Given the description of an element on the screen output the (x, y) to click on. 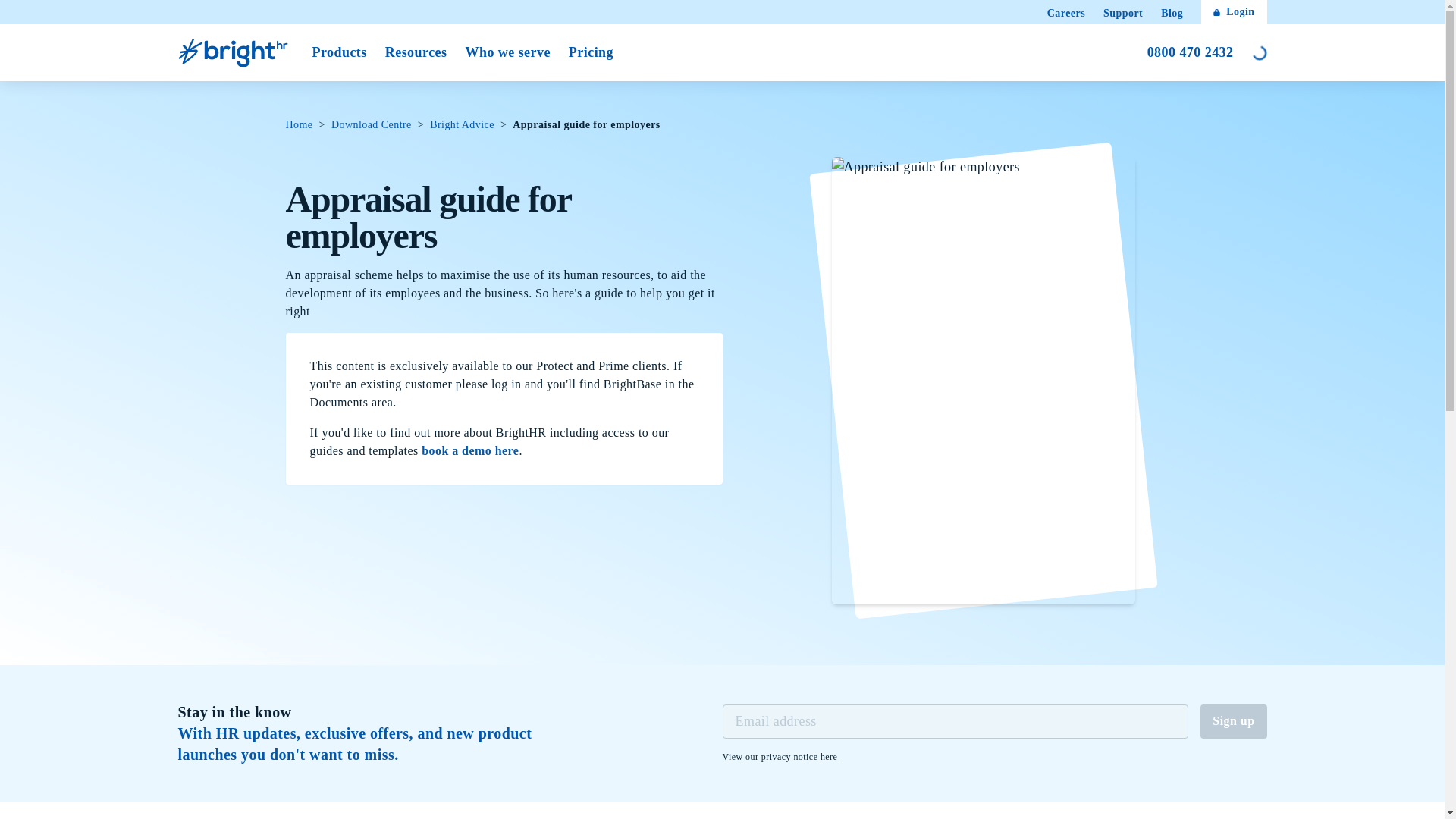
BrightHR logo (235, 51)
Blog (1171, 13)
Bright Advice (829, 756)
Support (462, 124)
Home (1122, 13)
book a demo here (299, 124)
Pricing (470, 450)
Sign up (590, 52)
Download Centre (1232, 720)
Login (371, 124)
0800 470 2432 (1233, 12)
Careers (1190, 52)
